Given the description of an element on the screen output the (x, y) to click on. 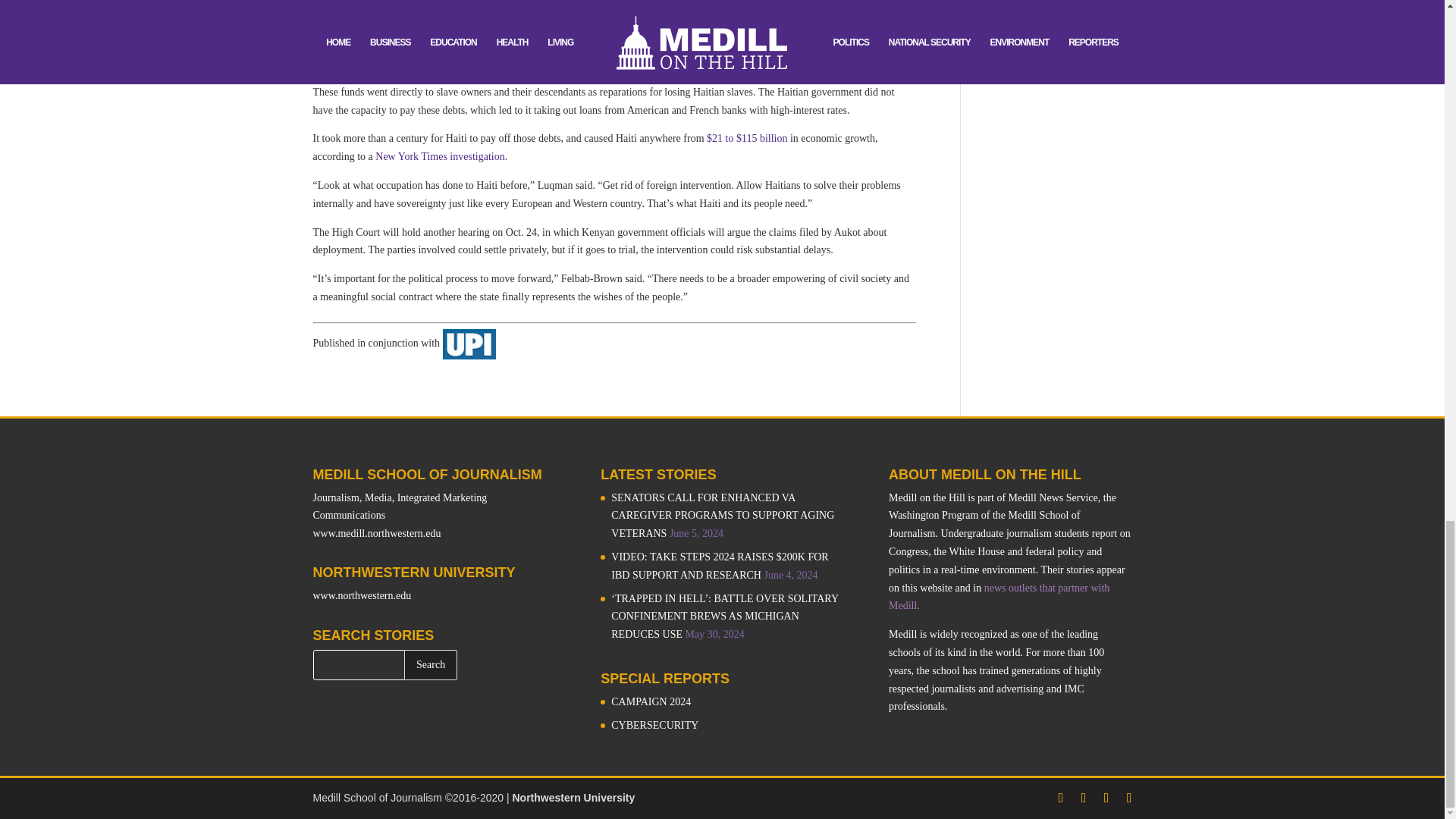
150 million francs (497, 62)
www.northwestern.edu (361, 595)
UPI (469, 342)
CYBERSECURITY (654, 725)
Search (430, 665)
CAMPAIGN 2024 (650, 701)
www.medill.northwestern.edu (377, 532)
20 to 30 billion (792, 62)
Search (430, 665)
New York Times investigation. (440, 156)
